Given the description of an element on the screen output the (x, y) to click on. 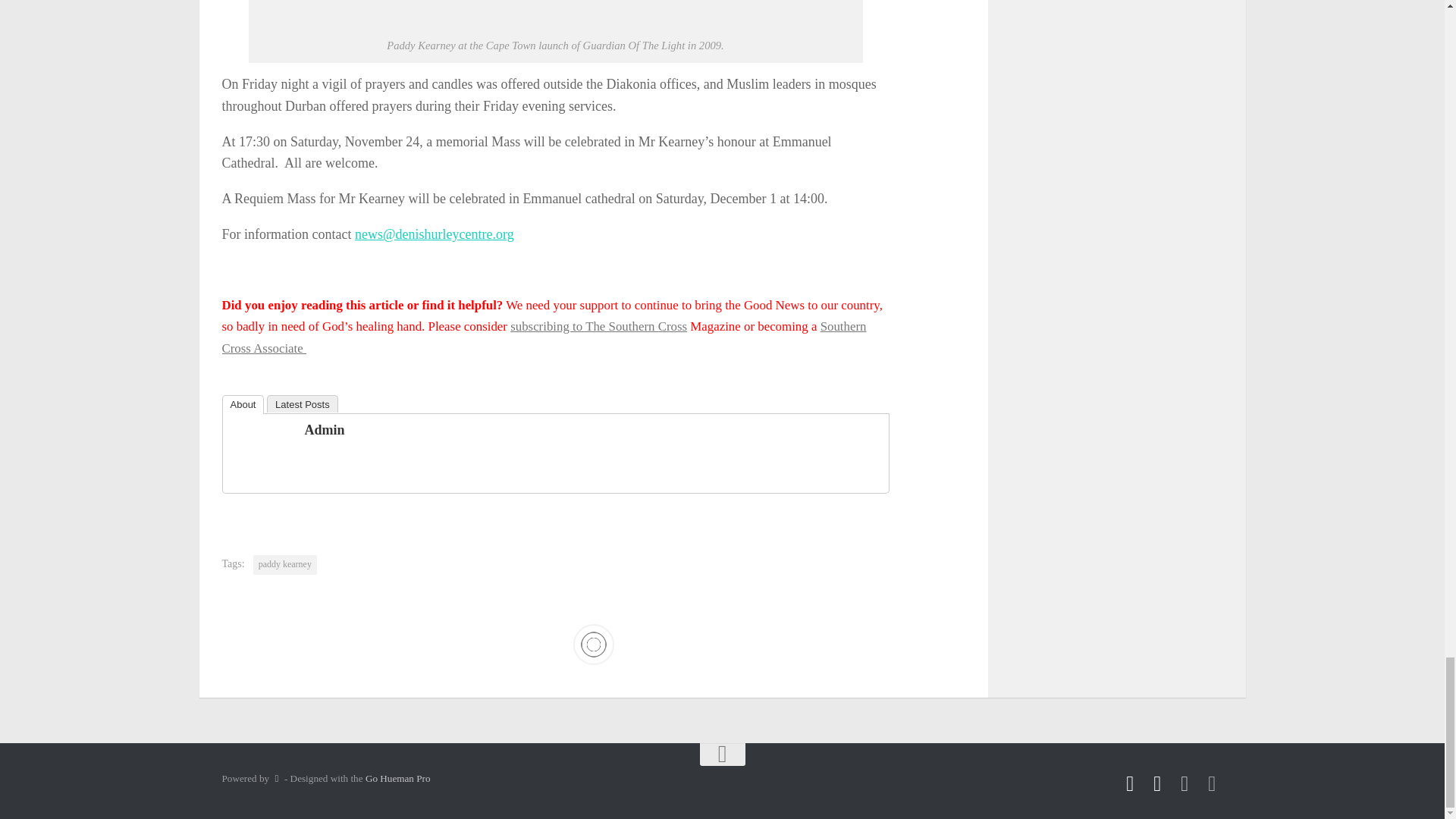
Twitter (1184, 783)
Facebook (1157, 783)
Rss (1129, 783)
Powered by WordPress (275, 777)
Go Hueman Pro (397, 778)
Follow us on Instagram (1212, 783)
